Given the description of an element on the screen output the (x, y) to click on. 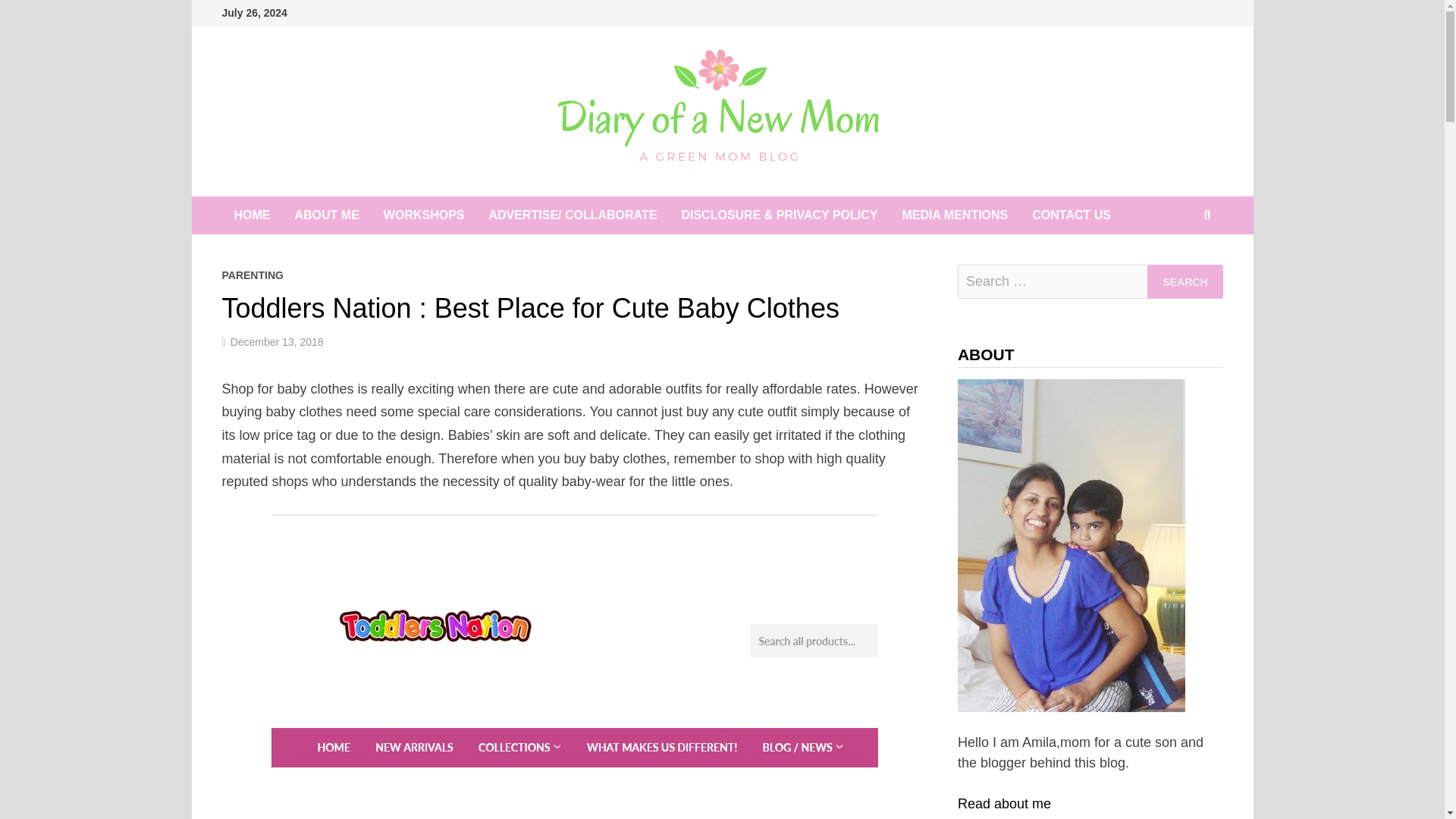
HOME (251, 215)
Search (1185, 281)
ABOUT ME (326, 215)
December 13, 2018 (276, 341)
MEDIA MENTIONS (954, 215)
PARENTING (251, 275)
CONTACT US (1071, 215)
Search (1185, 281)
WORKSHOPS (424, 215)
